Given the description of an element on the screen output the (x, y) to click on. 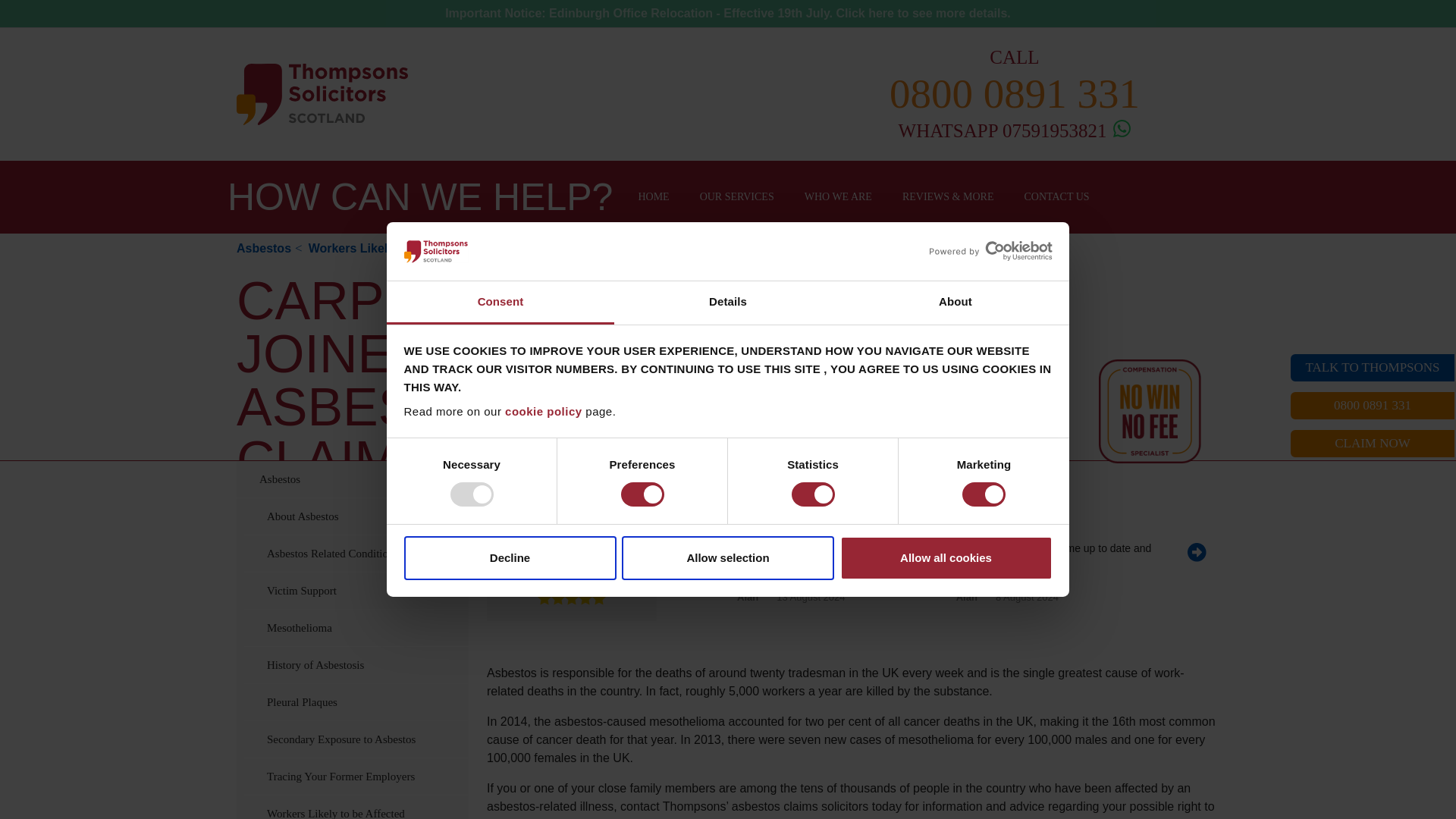
cookie policy (543, 410)
Details (727, 302)
About (954, 302)
Consent (500, 302)
